Given the description of an element on the screen output the (x, y) to click on. 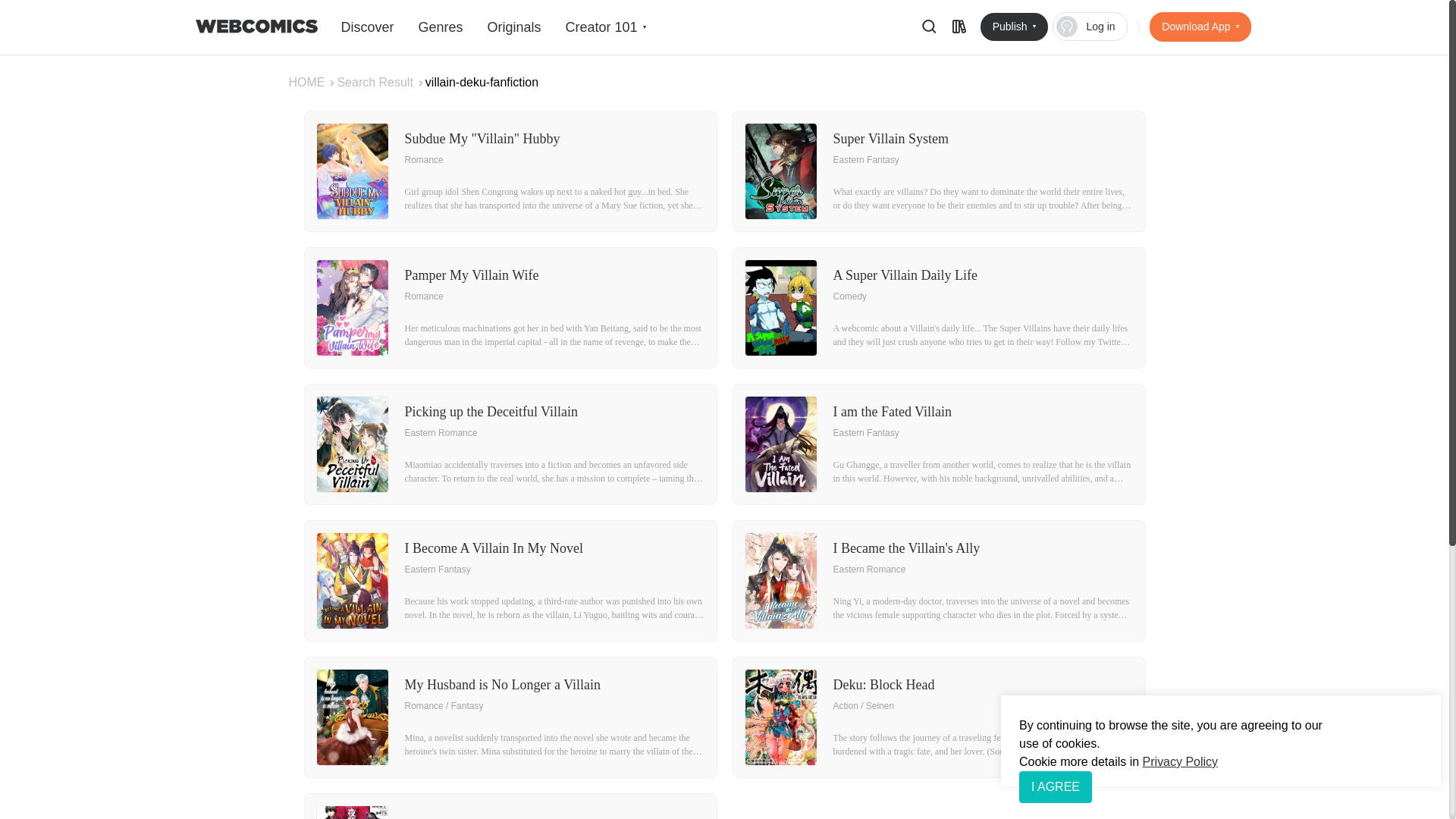
sheet (959, 26)
Originals (513, 27)
Download App (509, 806)
search (1200, 26)
Discover (928, 26)
Creator 101 (366, 27)
HOME (604, 27)
Log in (312, 82)
Publish (1089, 26)
